Given the description of an element on the screen output the (x, y) to click on. 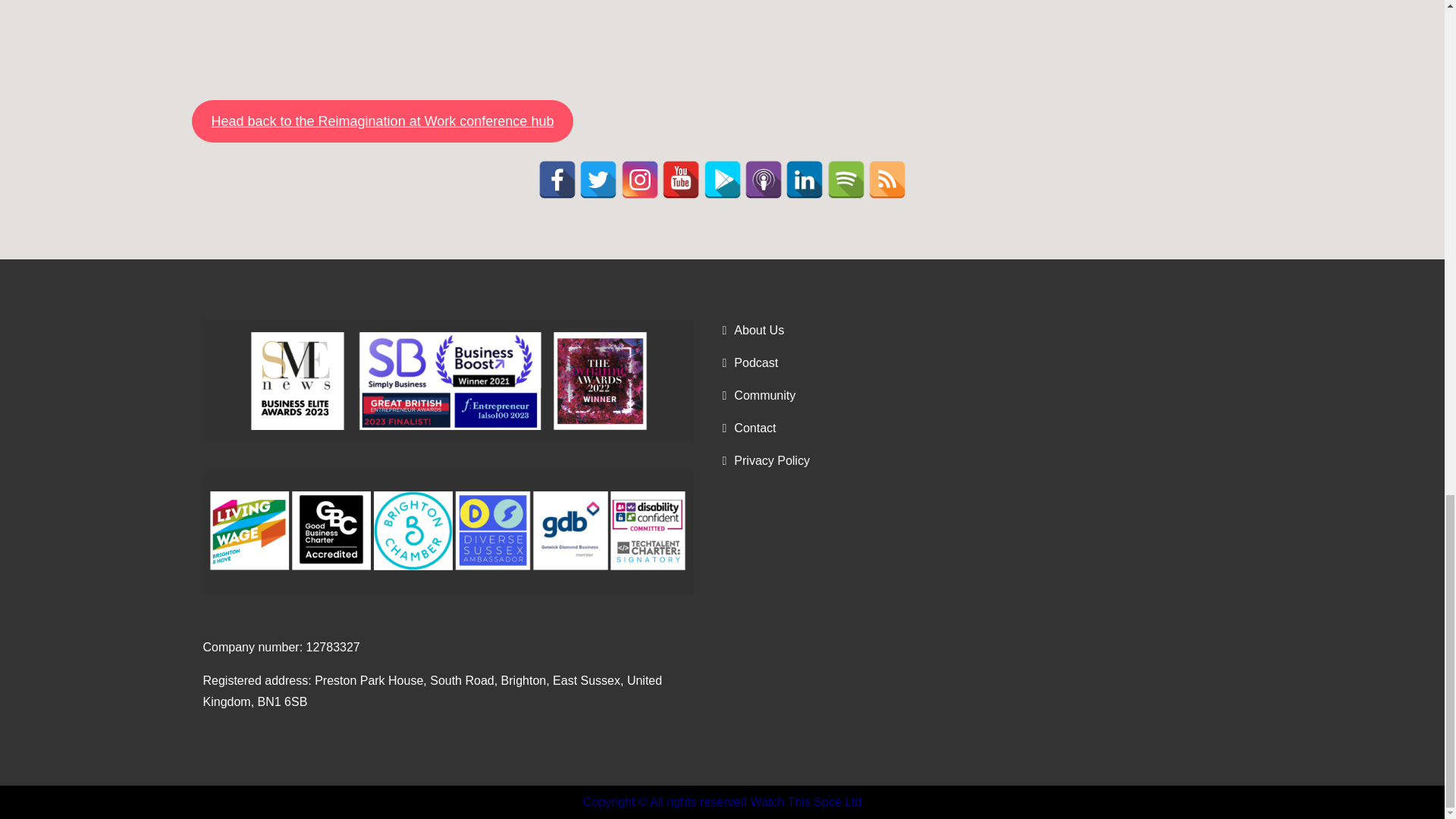
RSS Feed (886, 179)
YouTube (681, 179)
iTunes Podcasts (763, 179)
Becoming a proactive ally - Kaia Allen-Bevan (617, 40)
Spotify (845, 179)
Instagram (640, 179)
Google Play (722, 179)
Head back to the Reimagination at Work conference hub (381, 120)
LinkedIn (805, 179)
Twitter (598, 179)
